Given the description of an element on the screen output the (x, y) to click on. 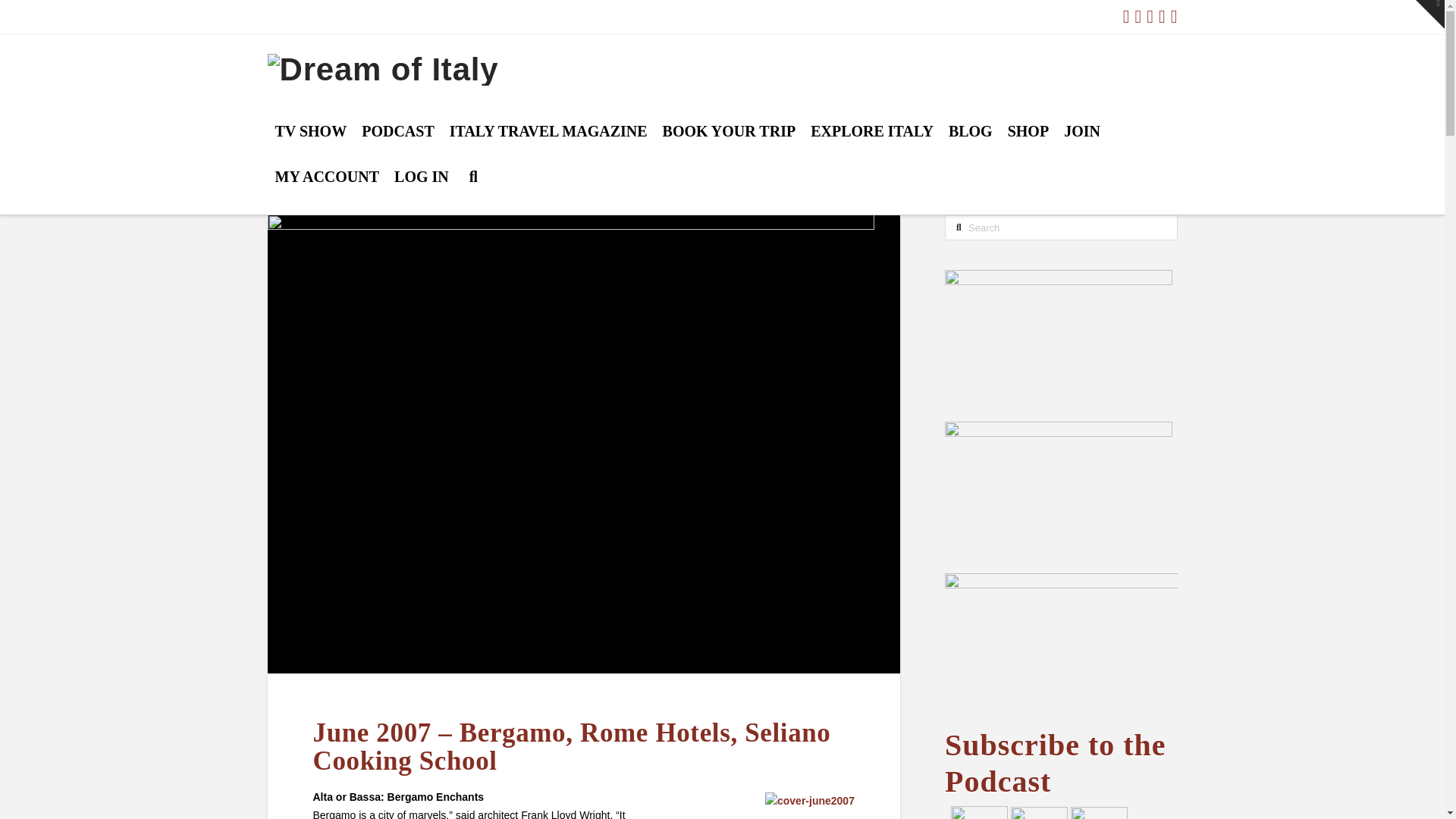
BOOK YOUR TRIP (729, 145)
TV SHOW (309, 145)
PODCAST (397, 145)
ITALY TRAVEL MAGAZINE (548, 145)
